Given the description of an element on the screen output the (x, y) to click on. 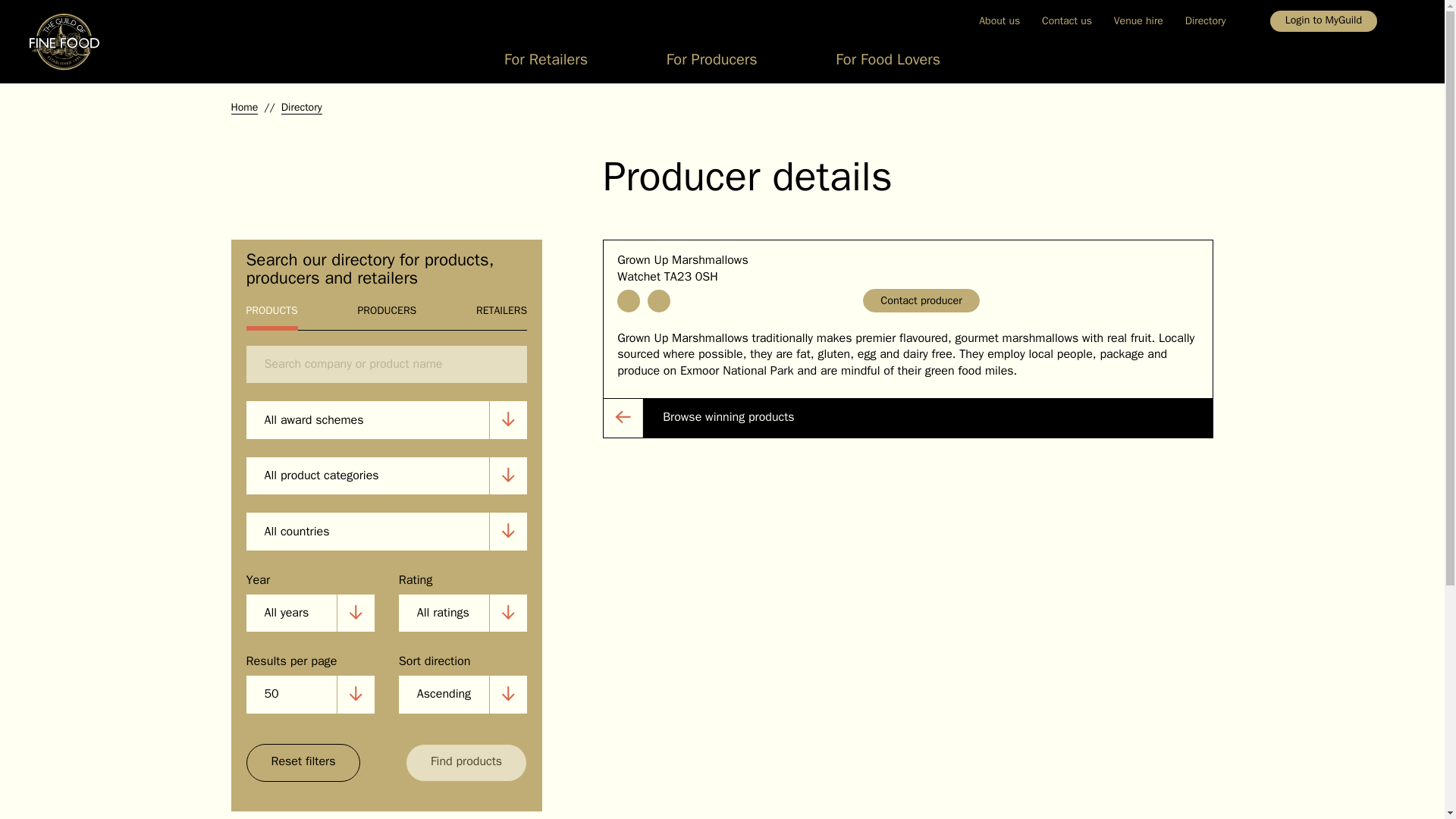
Contact us (1066, 20)
Login to MyGuild (1323, 20)
Venue hire (1137, 20)
Directory (1204, 20)
Directory (1204, 20)
About us (999, 20)
About us (999, 20)
For Retailers (545, 63)
Venue hire (1137, 20)
Contact us (1066, 20)
